Given the description of an element on the screen output the (x, y) to click on. 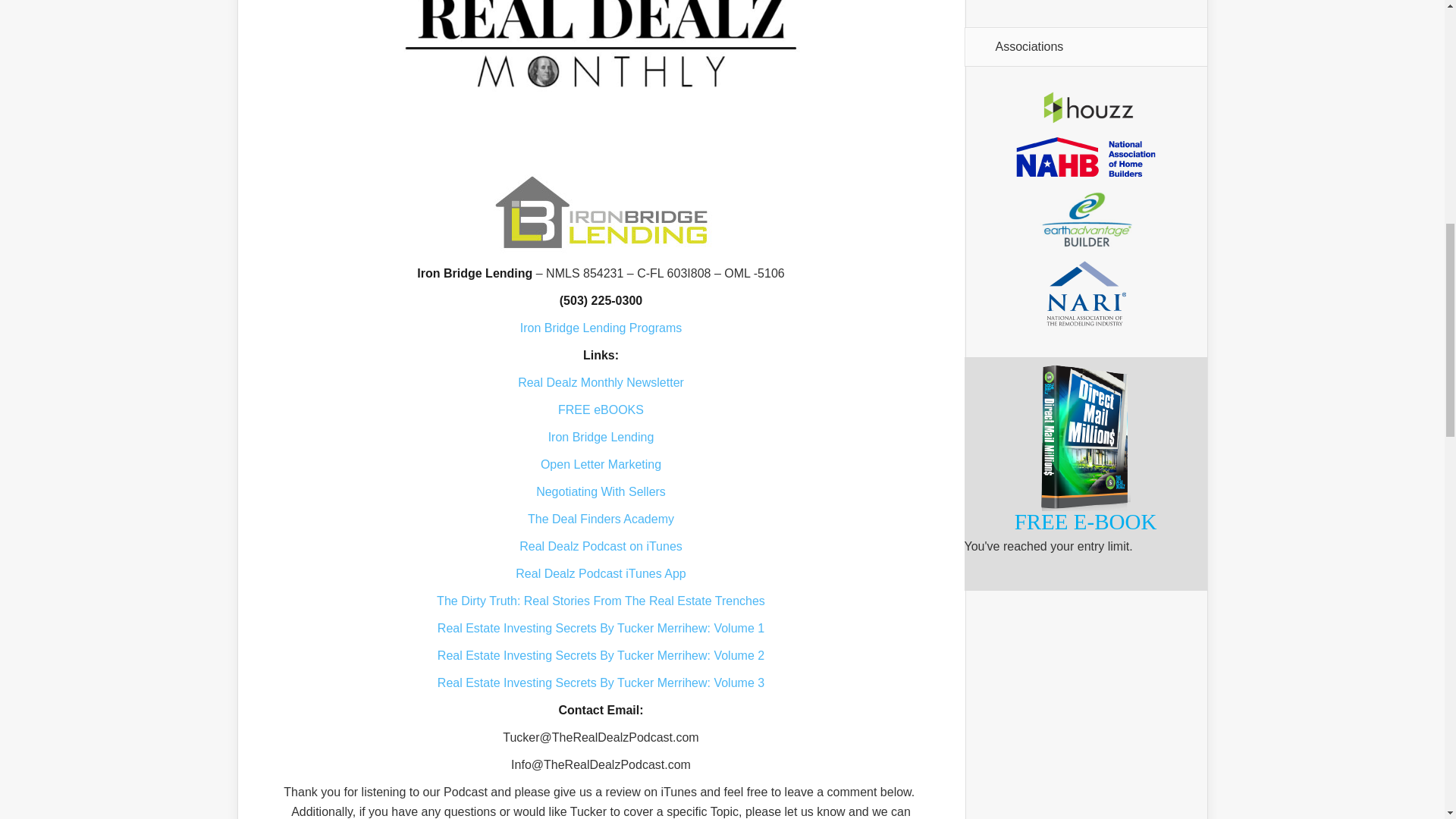
Real Dealz Podcast on iTunes (600, 545)
Real Dealz Podcast iTunes App (600, 573)
FREE eBOOKS (600, 409)
Iron Bridge Lending Programs (600, 327)
Real Dealz Monthly Newsletter (601, 382)
